Given the description of an element on the screen output the (x, y) to click on. 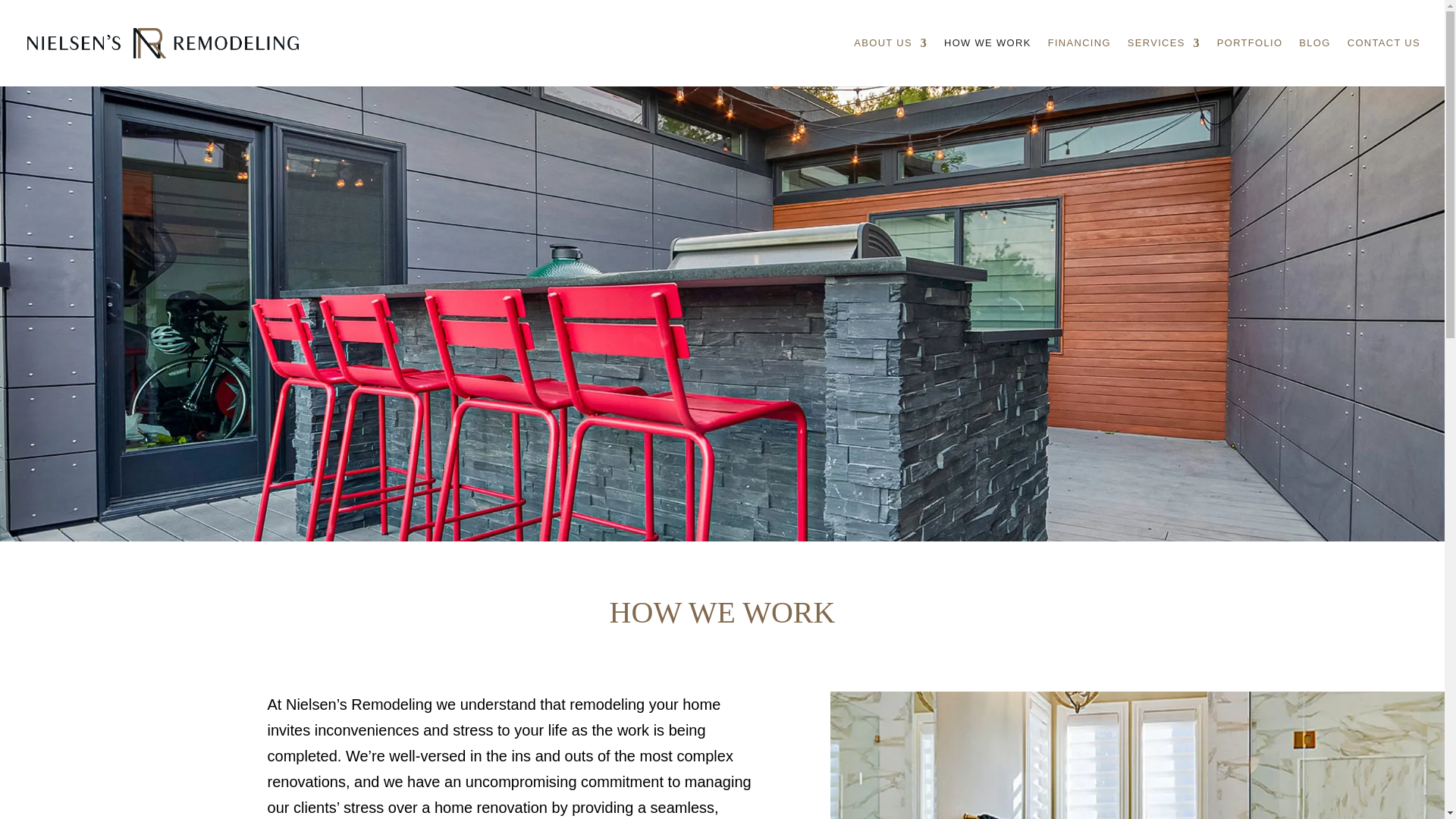
ABOUT US (890, 61)
CONTACT US (1384, 61)
HOW WE WORK (986, 61)
FINANCING (1079, 61)
PORTFOLIO (1249, 61)
SERVICES (1162, 61)
